Given the description of an element on the screen output the (x, y) to click on. 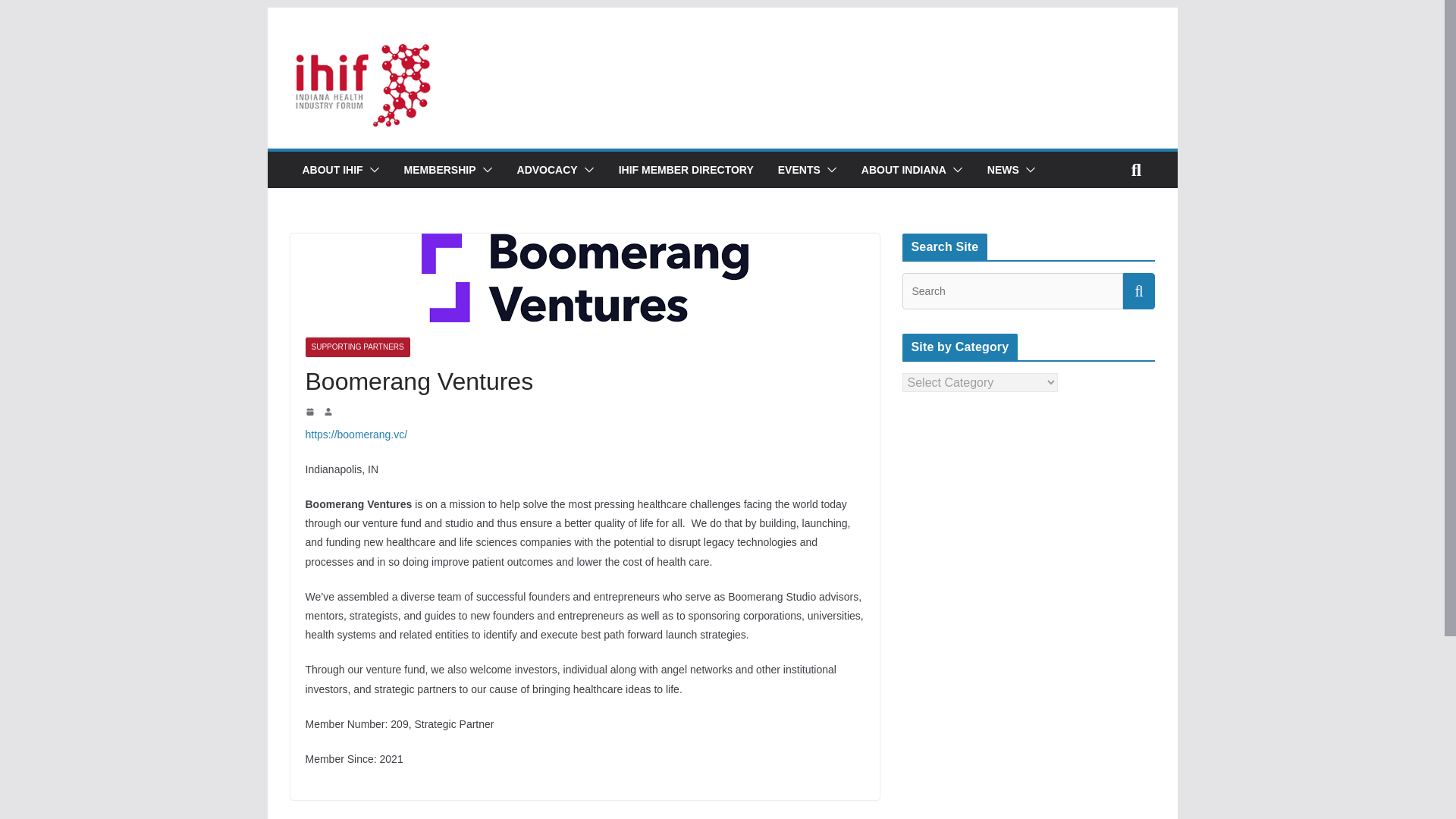
ABOUT IHIF (331, 169)
MEMBERSHIP (440, 169)
EVENTS (799, 169)
Indiana Health Industry Forum (721, 53)
NEWS (1003, 169)
ABOUT INDIANA (903, 169)
SUPPORTING PARTNERS (356, 347)
IHIF MEMBER DIRECTORY (686, 169)
ADVOCACY (547, 169)
